Given the description of an element on the screen output the (x, y) to click on. 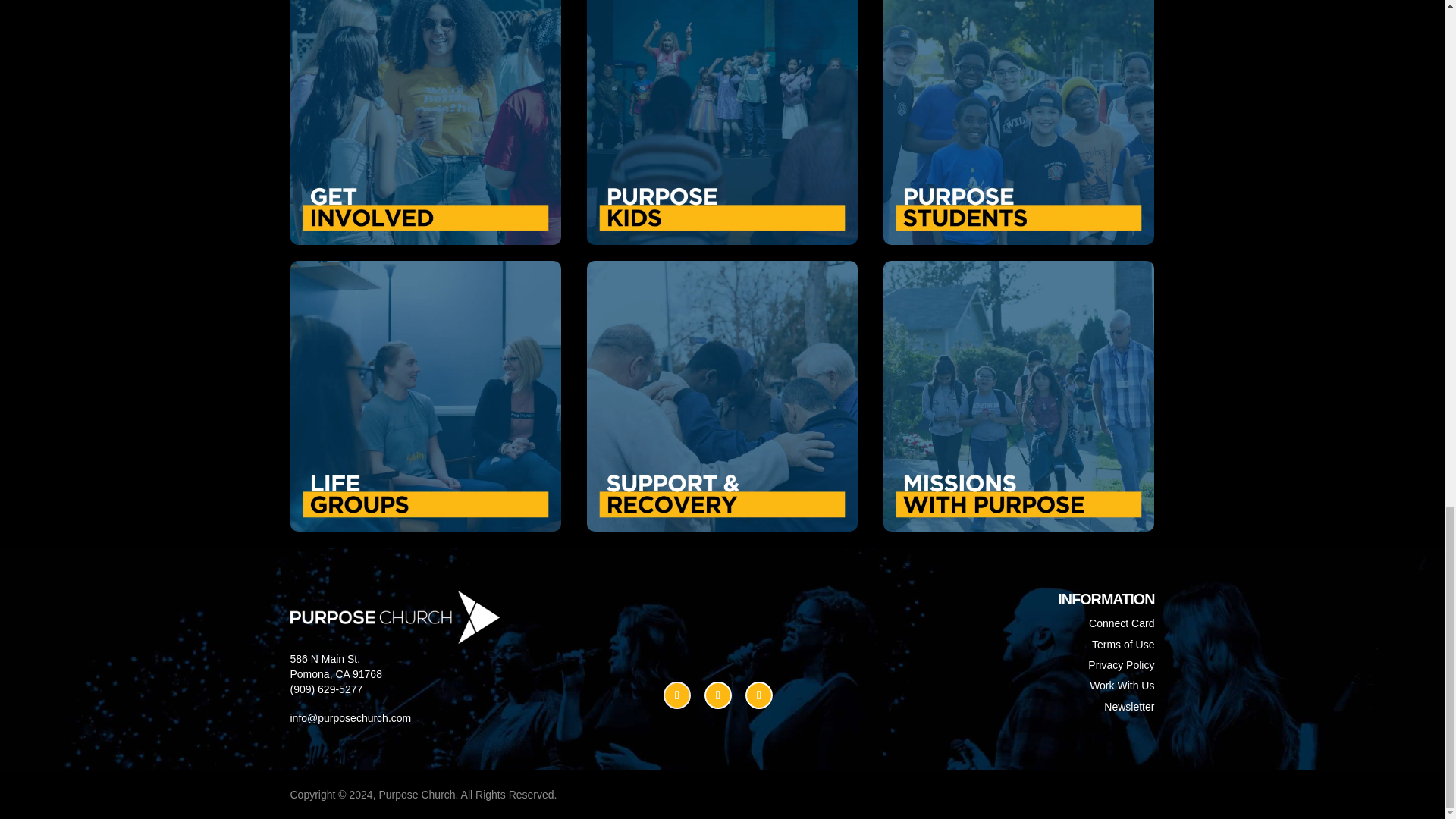
Get Involved (424, 122)
Missions with Purpose (1018, 395)
Purpose Kids (721, 122)
Follow on Instagram (718, 695)
Life Groups (424, 395)
Follow on Youtube (676, 695)
Purpose Students (1018, 122)
